Given the description of an element on the screen output the (x, y) to click on. 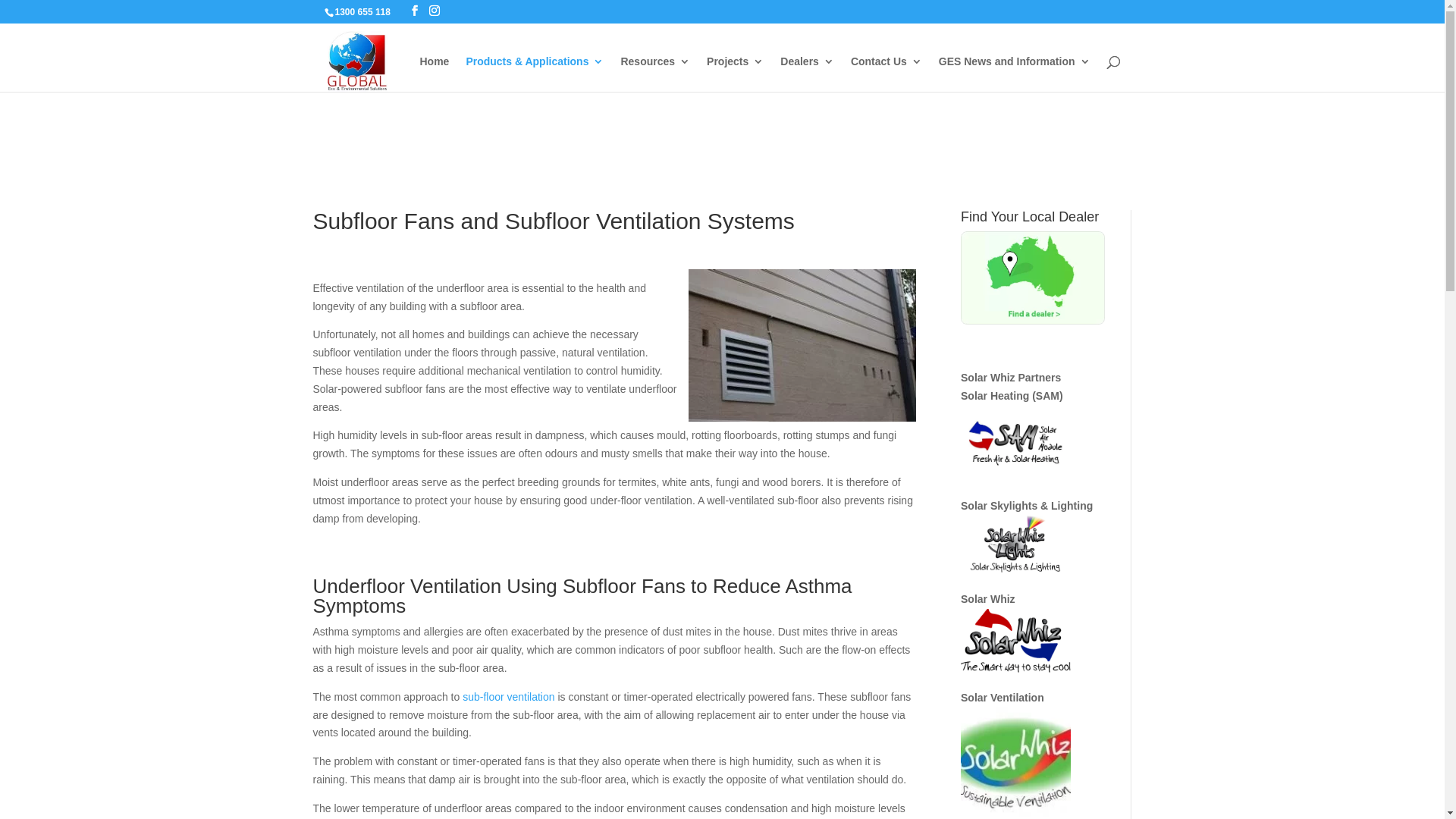
Projects Element type: text (734, 73)
1300 655 118 Element type: text (362, 11)
Contact Us Element type: text (886, 73)
Home Element type: text (433, 73)
GES News and Information Element type: text (1014, 73)
Products & Applications Element type: text (534, 73)
Dealers Element type: text (807, 73)
Resources Element type: text (655, 73)
sub-floor ventilation Element type: text (508, 696)
